Given the description of an element on the screen output the (x, y) to click on. 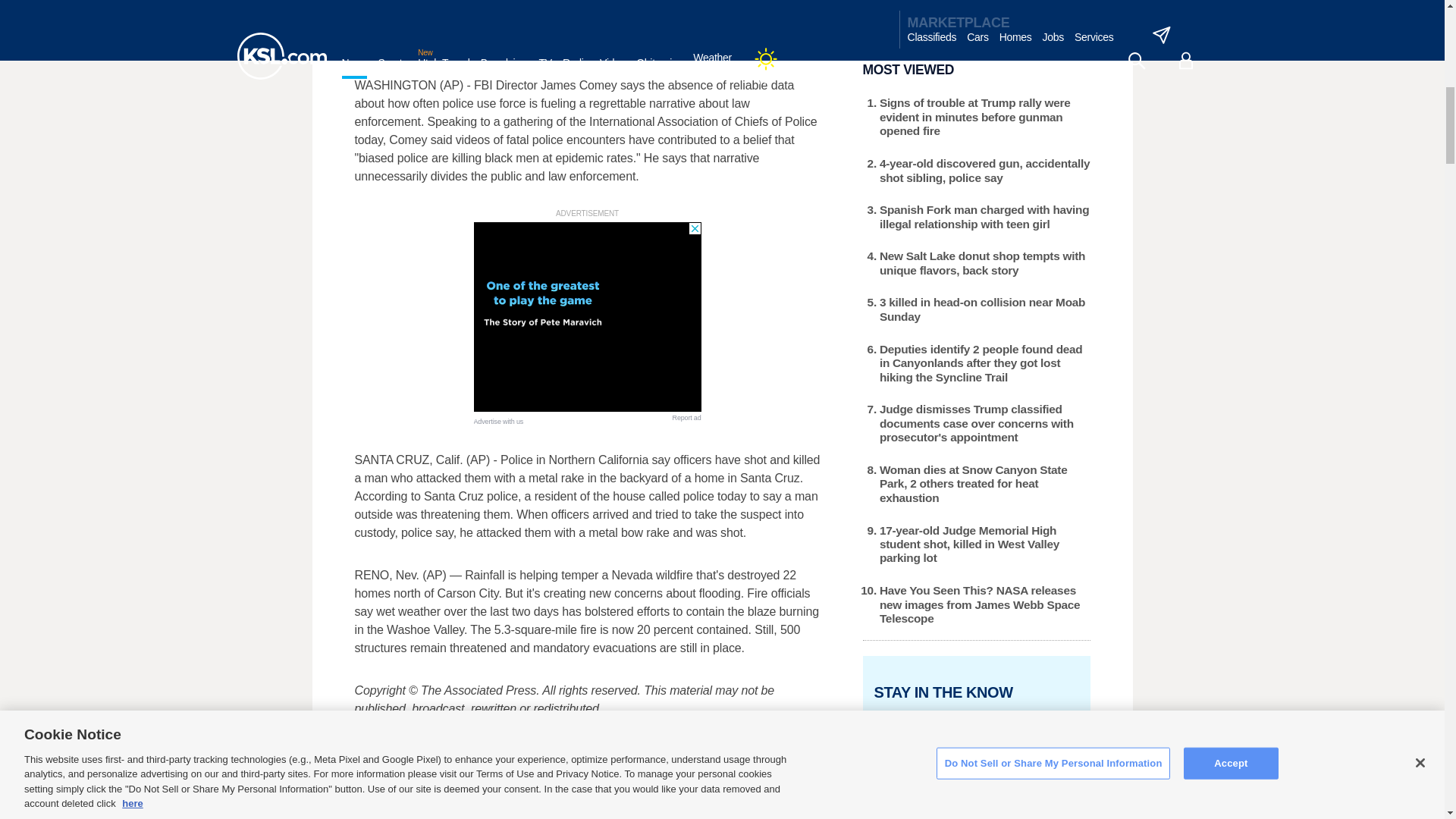
3rd party ad content (976, 11)
3rd party ad content (586, 316)
